Given the description of an element on the screen output the (x, y) to click on. 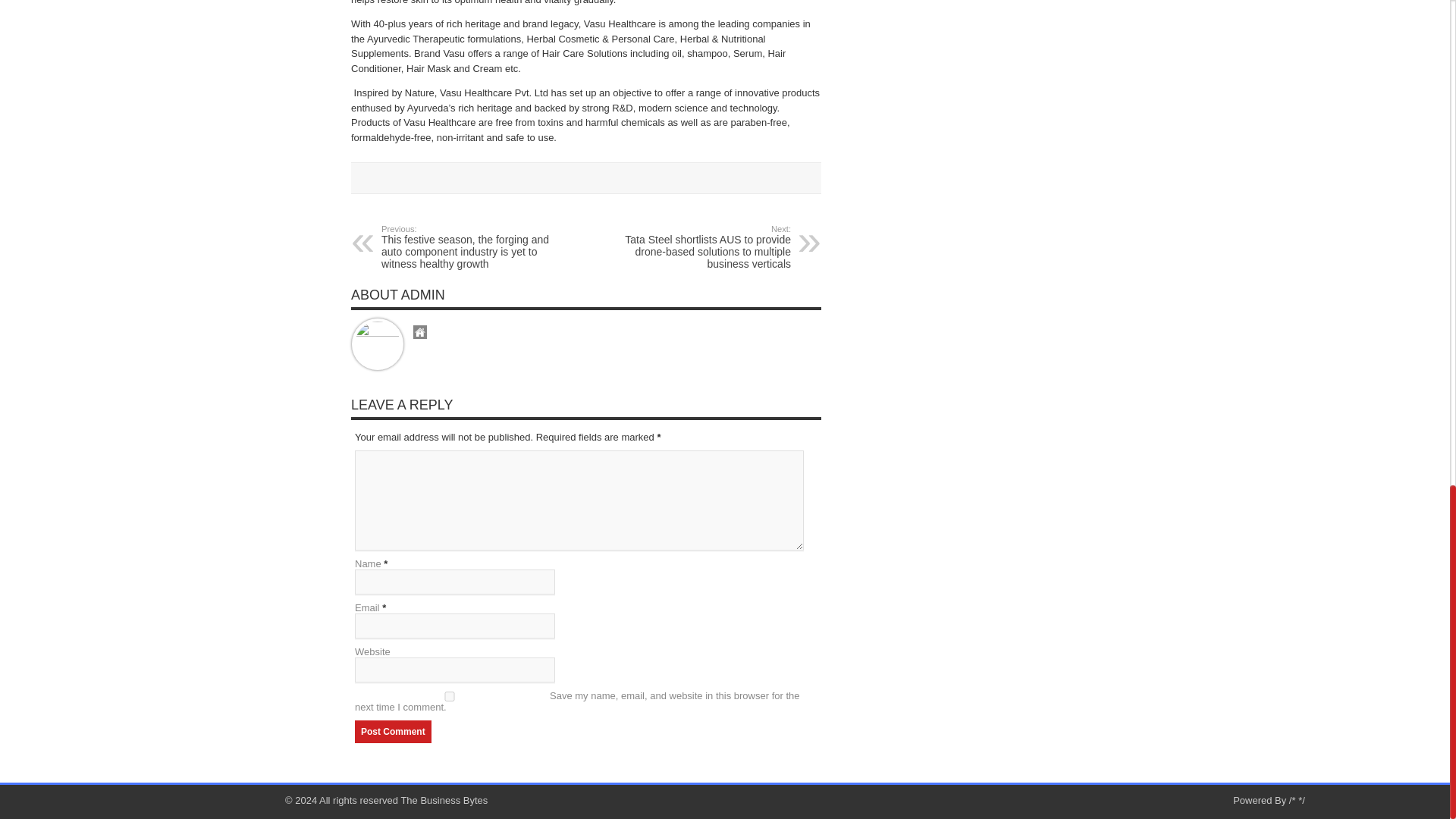
Post Comment (392, 731)
